Given the description of an element on the screen output the (x, y) to click on. 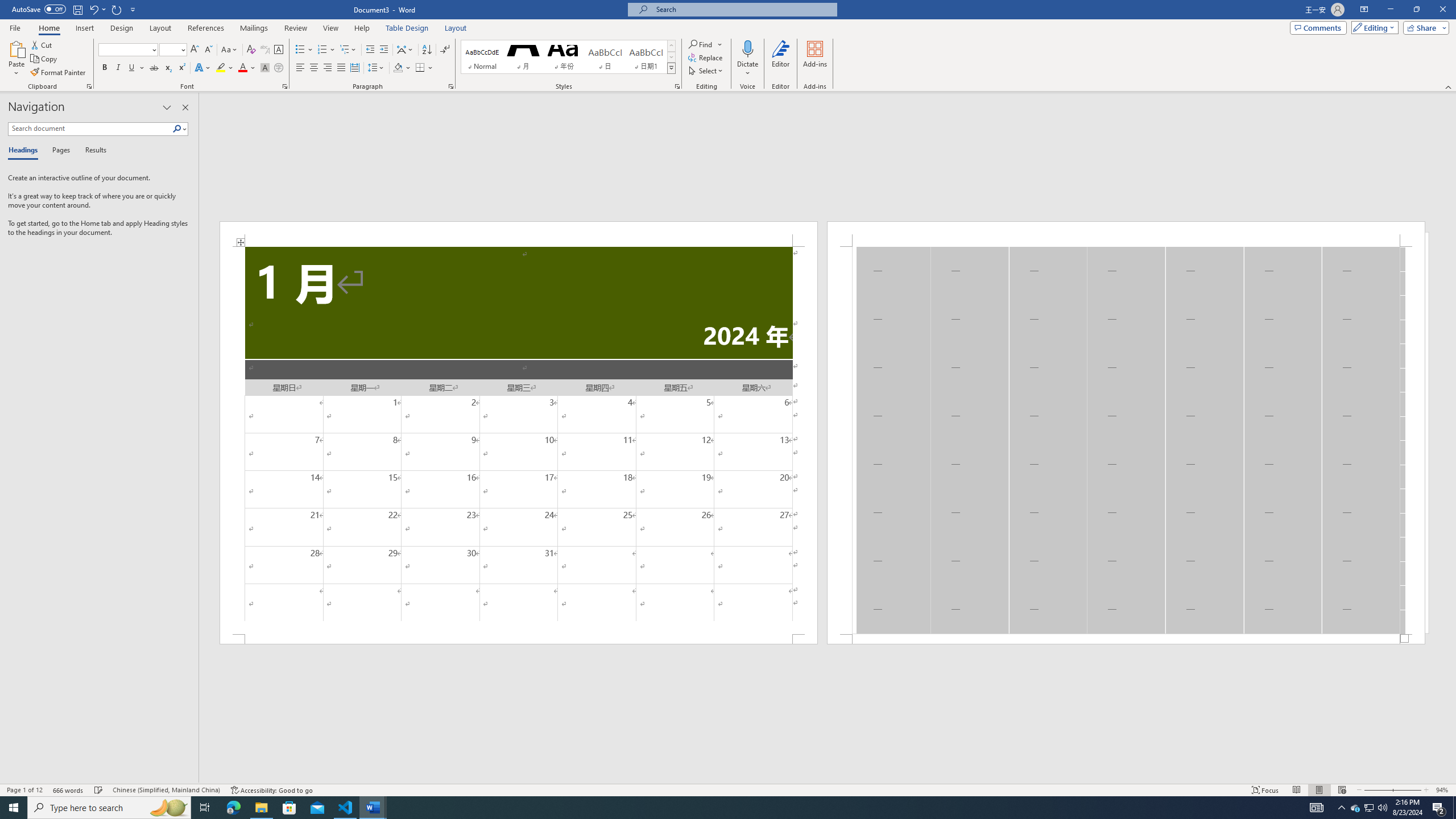
File Tab (15, 27)
Mode (1372, 27)
Multilevel List (347, 49)
Grow Font (193, 49)
Quick Access Toolbar (74, 9)
References (205, 28)
Character Border (278, 49)
Headings (25, 150)
Text Highlight Color (224, 67)
Find (705, 44)
Dictate (747, 48)
Italic (118, 67)
